Given the description of an element on the screen output the (x, y) to click on. 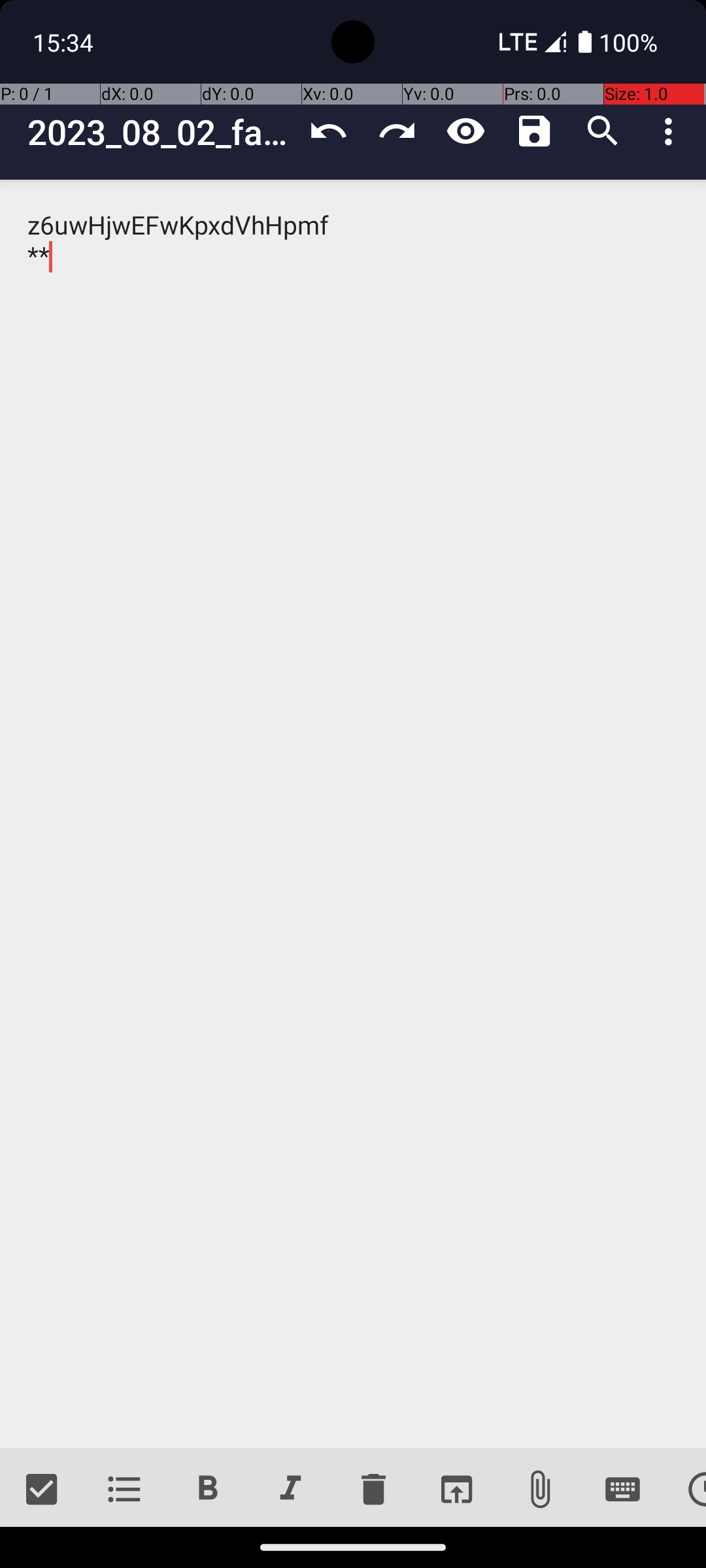
2023_08_02_favorite_book_quotes Element type: android.widget.TextView (160, 131)
z6uwHjwEFwKpxdVhHpmf
**** Element type: android.widget.EditText (353, 813)
